Given the description of an element on the screen output the (x, y) to click on. 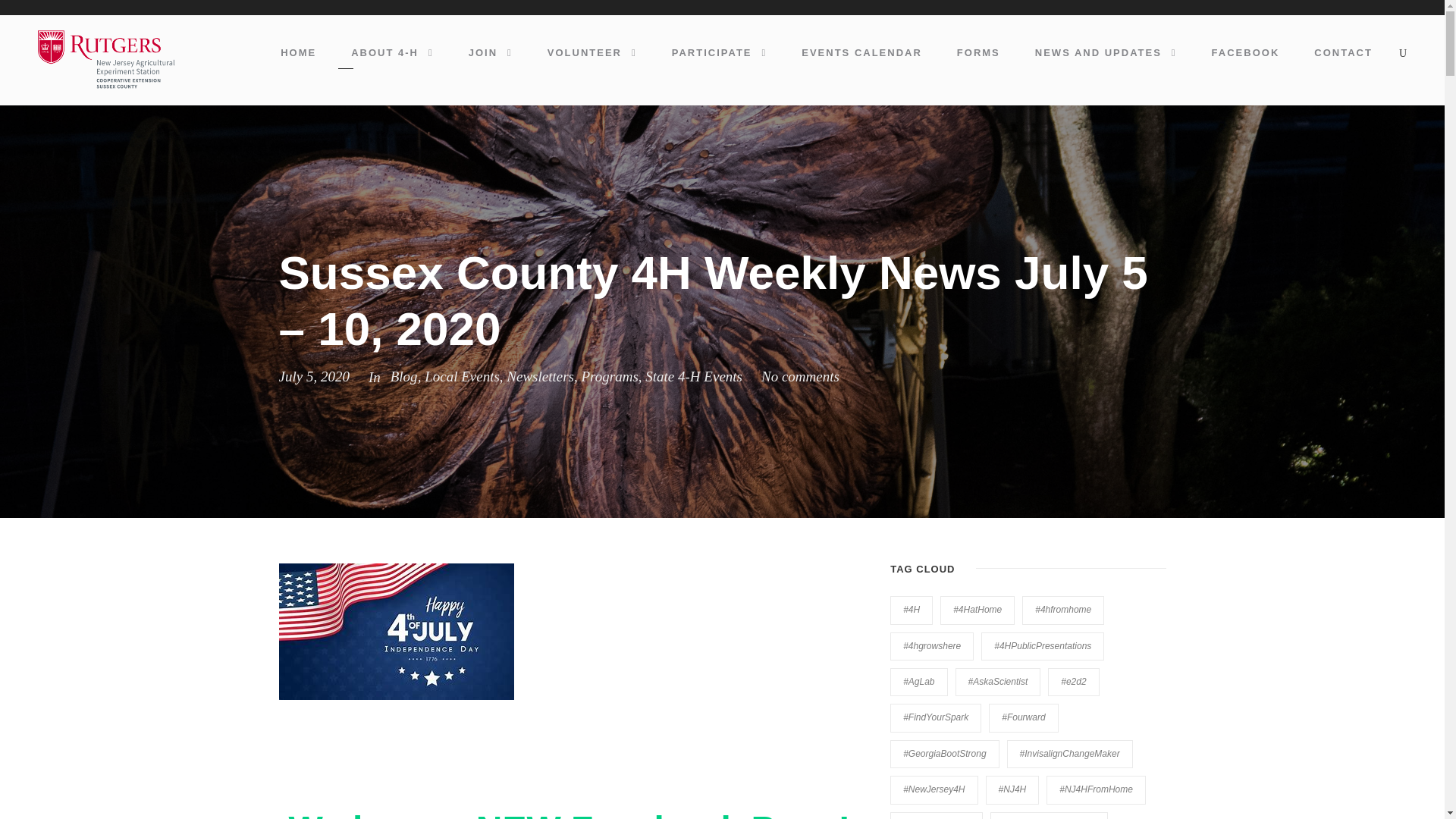
OIP (396, 631)
